Given the description of an element on the screen output the (x, y) to click on. 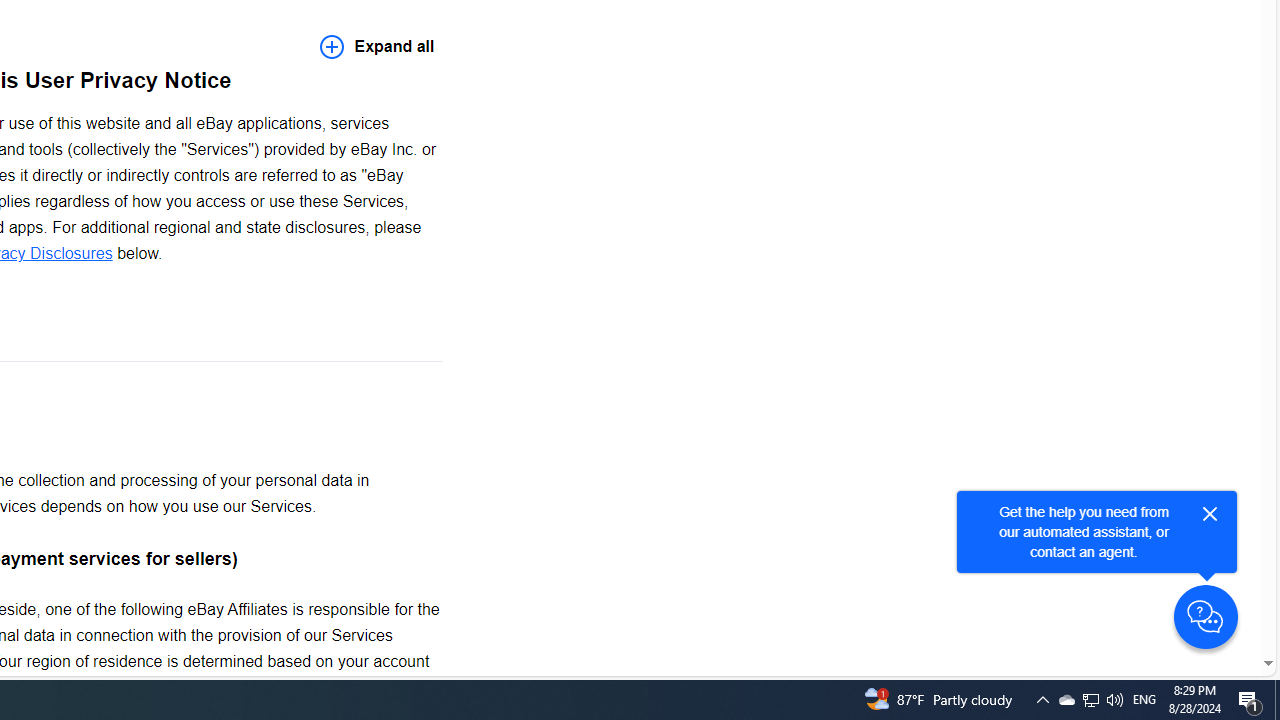
Expand all (377, 45)
